Given the description of an element on the screen output the (x, y) to click on. 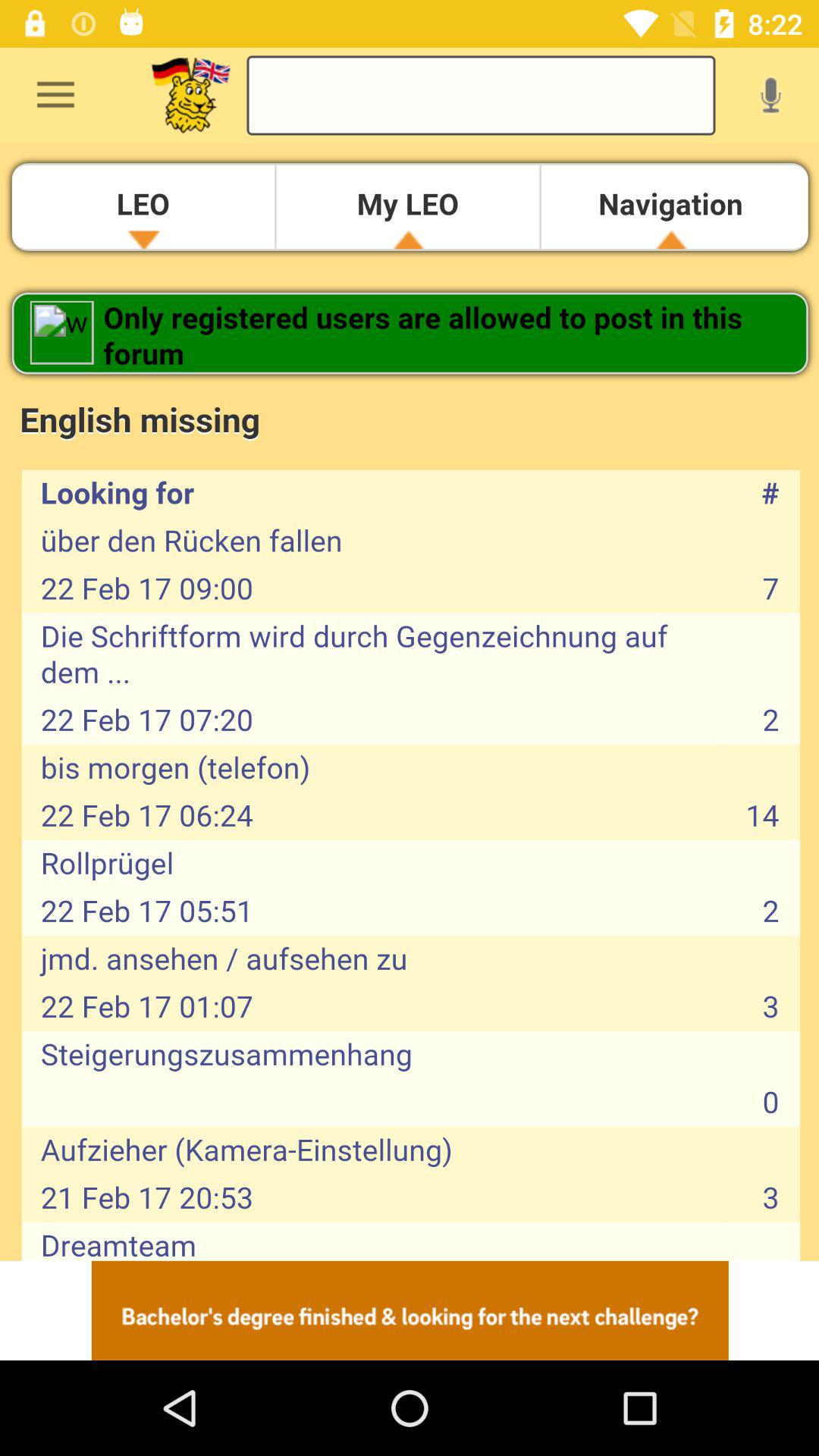
select voice search (770, 94)
